Given the description of an element on the screen output the (x, y) to click on. 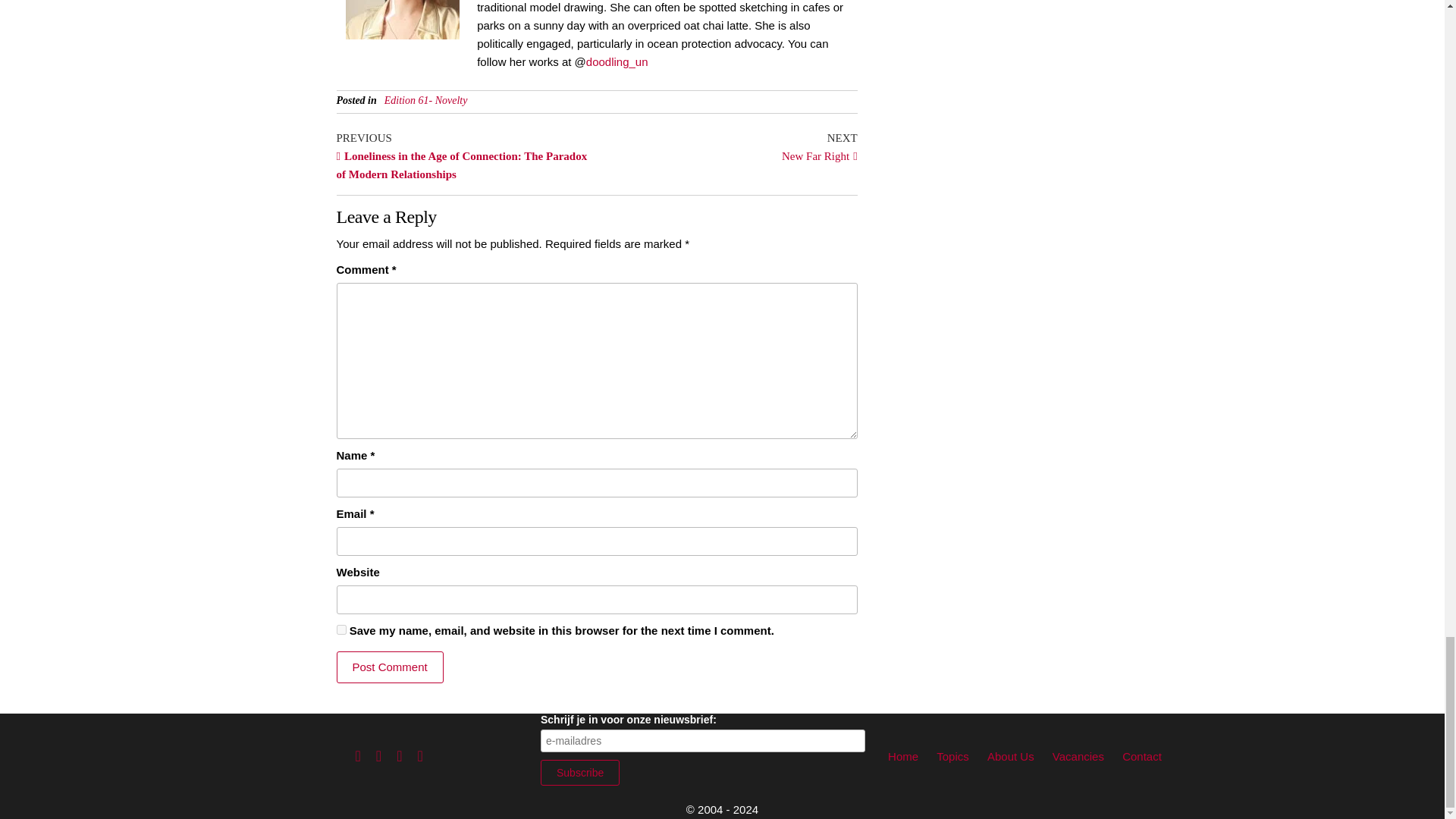
Post Comment (390, 667)
Edition 61- Novelty (425, 100)
Post Comment (726, 145)
Subscribe (390, 667)
yes (580, 772)
